Given the description of an element on the screen output the (x, y) to click on. 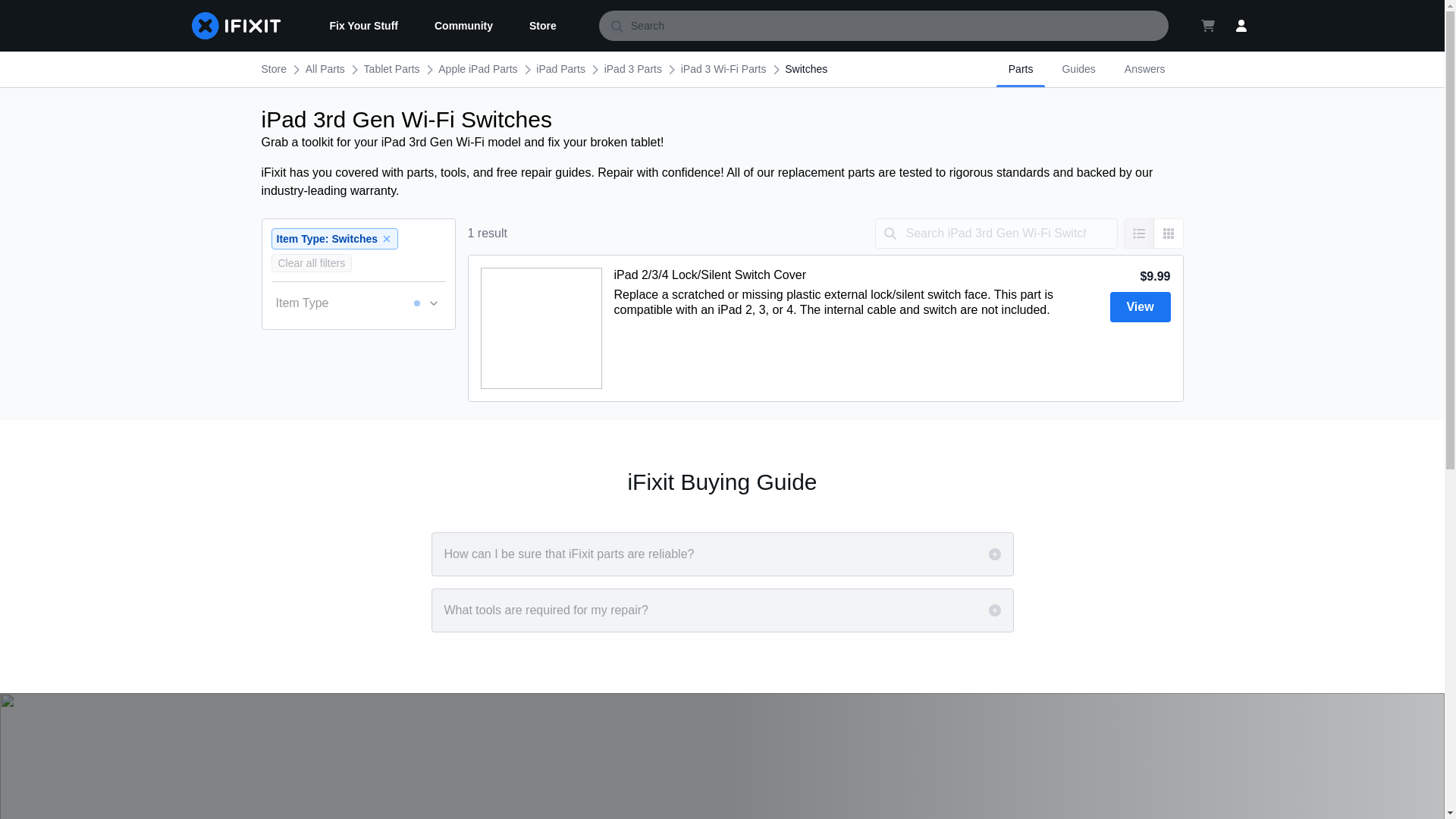
iPad Parts (560, 68)
Guides (1077, 68)
iPad 3 Parts (633, 68)
Tablet Parts (392, 68)
Store (272, 68)
iPad 3 Wi-Fi Parts (724, 68)
Store (543, 25)
Fix Your Stuff (362, 25)
Community (463, 25)
Apple iPad Parts (477, 68)
